Given the description of an element on the screen output the (x, y) to click on. 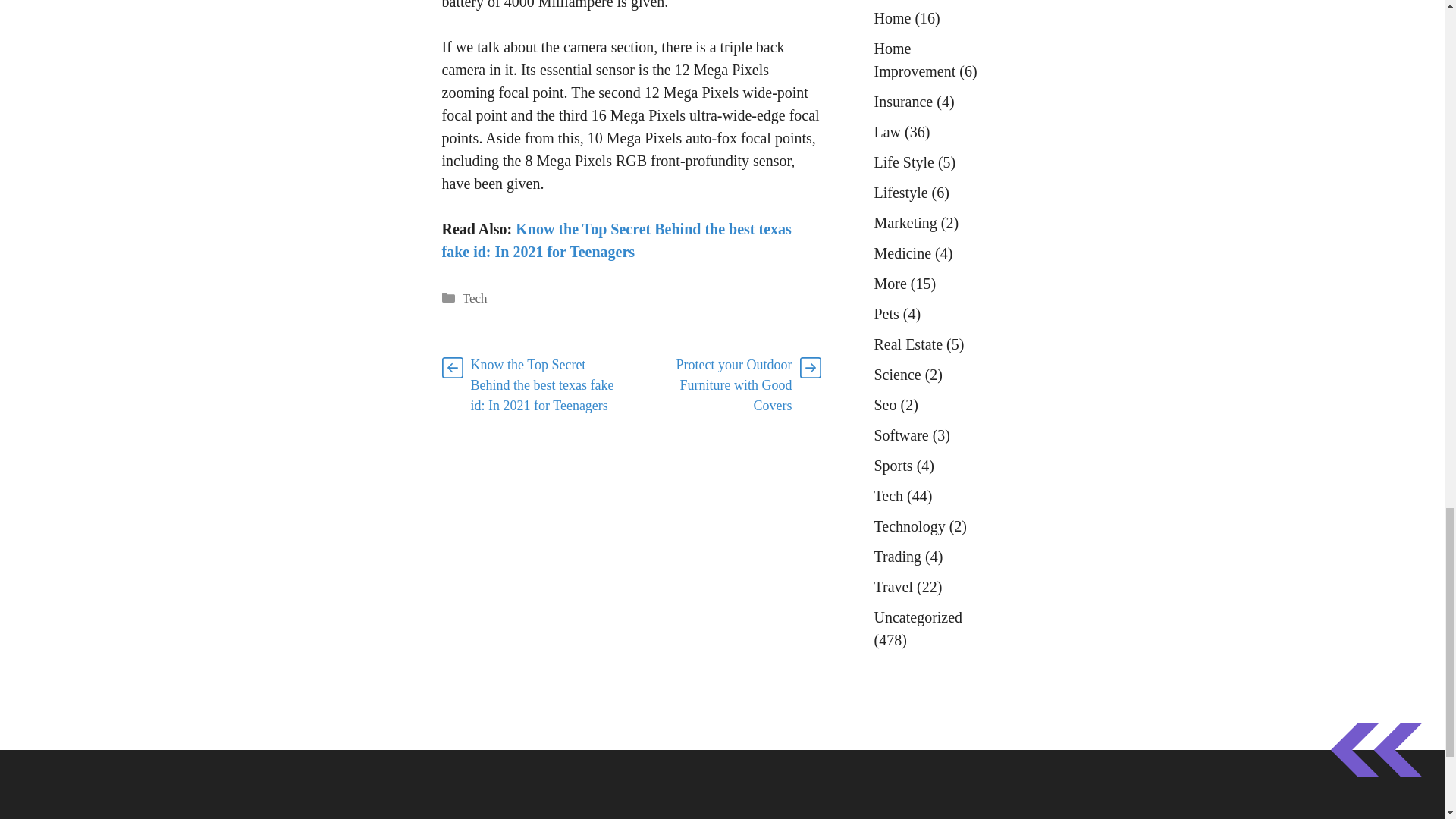
Tech (475, 298)
Protect your Outdoor Furniture with Good Covers (734, 385)
